Given the description of an element on the screen output the (x, y) to click on. 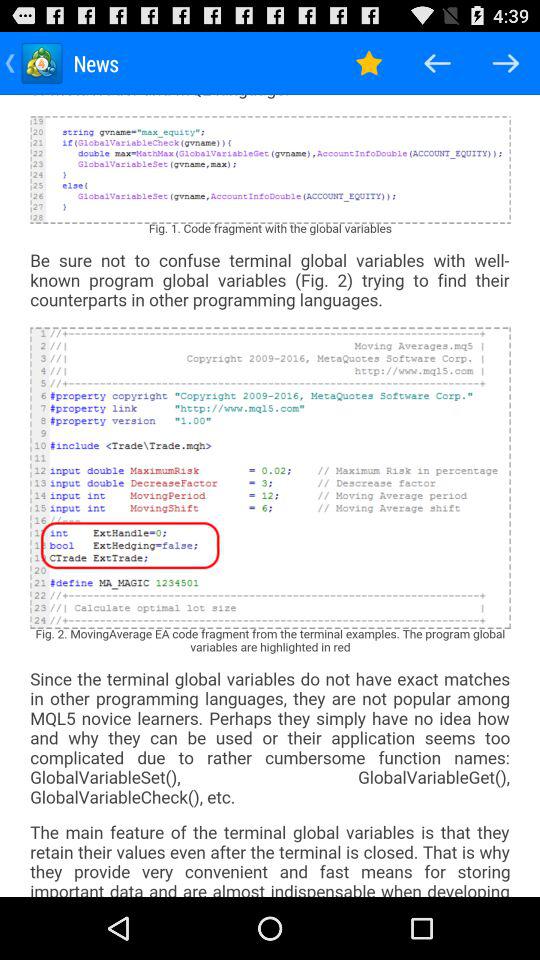
total web page (269, 495)
